Given the description of an element on the screen output the (x, y) to click on. 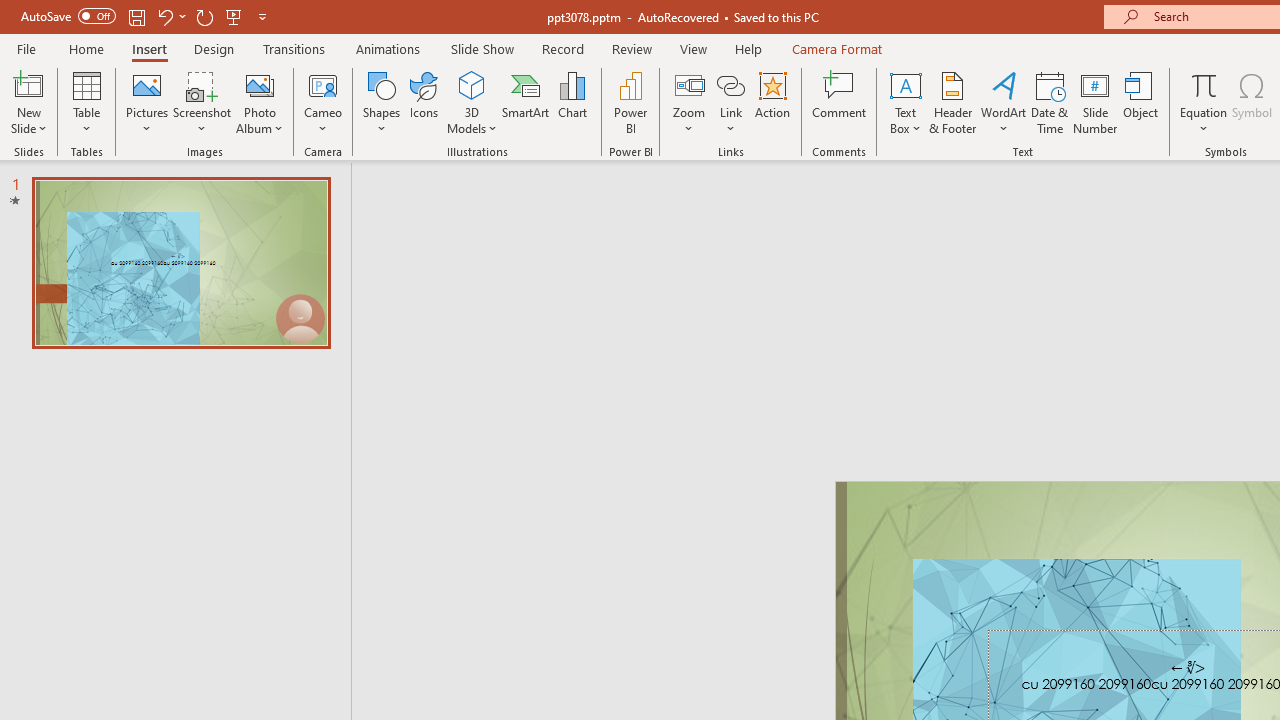
Camera Format (836, 48)
Photo Album... (259, 102)
3D Models (472, 84)
TextBox 7 (1188, 668)
Comment (839, 102)
3D Models (472, 102)
Pictures (147, 102)
